Given the description of an element on the screen output the (x, y) to click on. 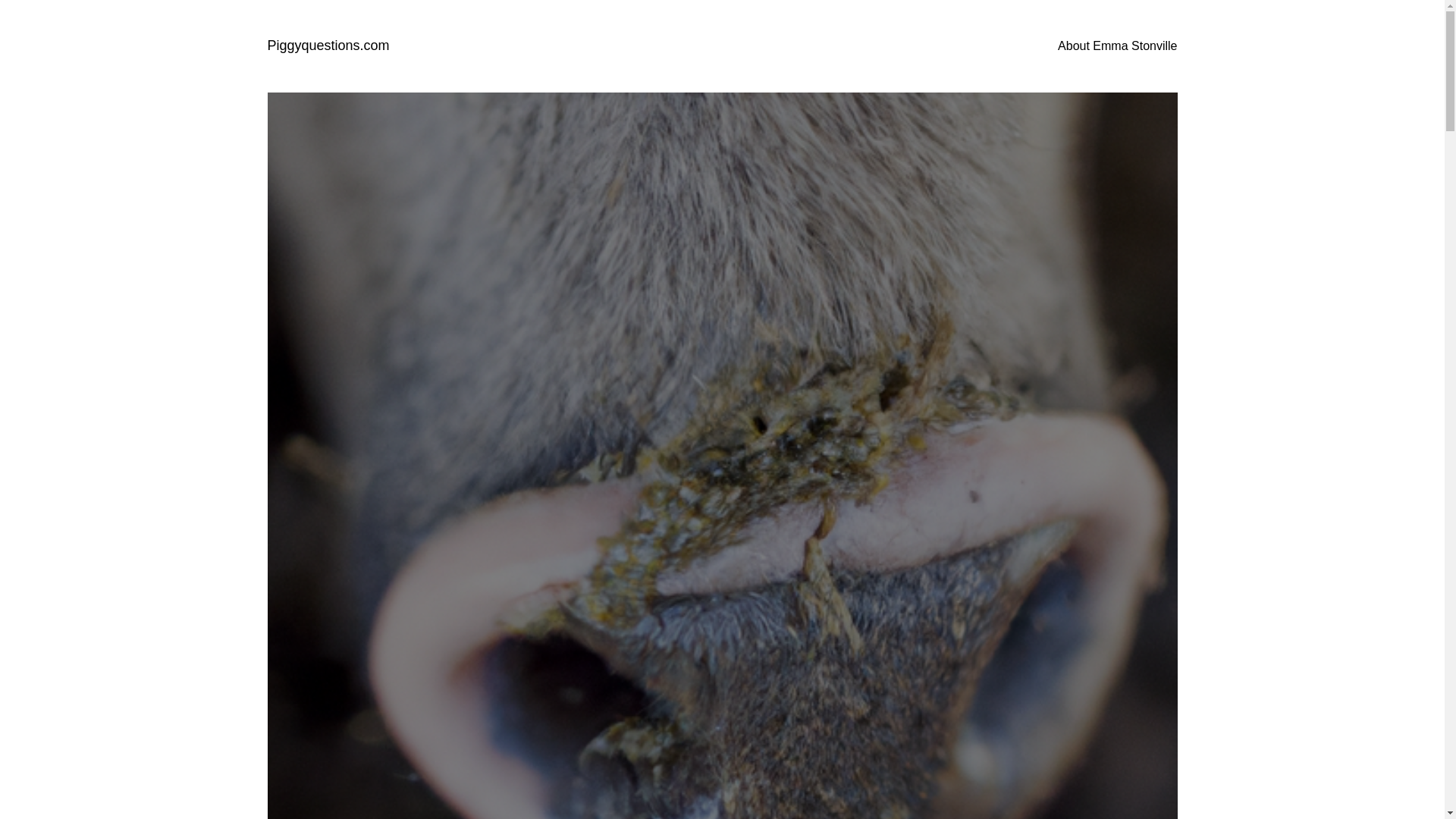
About Emma Stonville (1117, 46)
Piggyquestions.com (327, 45)
